Given the description of an element on the screen output the (x, y) to click on. 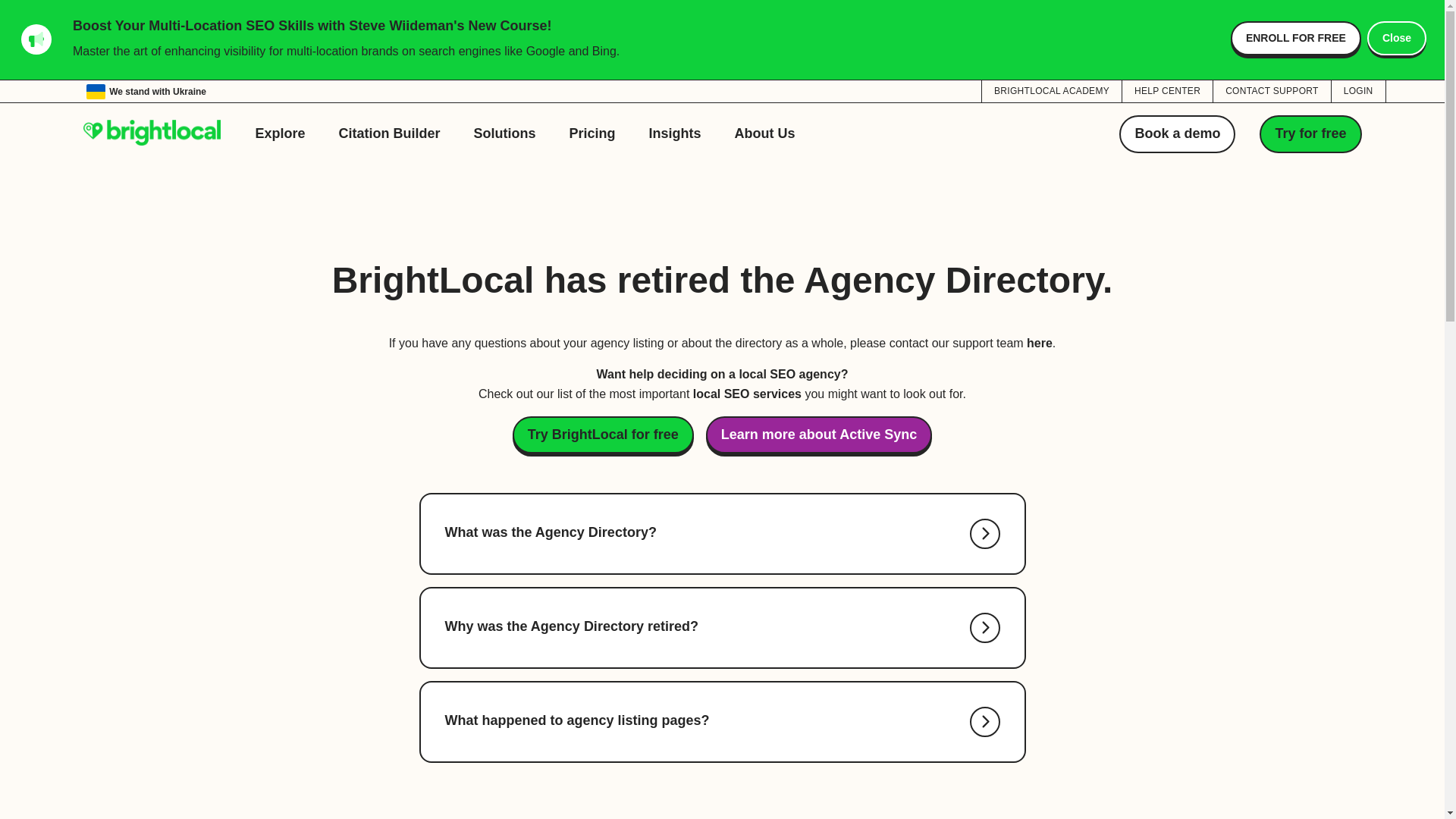
We stand with Ukraine (145, 91)
Close (1396, 38)
HELP CENTER (1167, 90)
ENROLL FOR FREE (1295, 38)
ENROLL FOR FREE (1295, 38)
BRIGHTLOCAL ACADEMY (1051, 90)
LOGIN (1359, 90)
Citation Builder (390, 134)
Solutions (505, 134)
CONTACT SUPPORT (1271, 90)
